Given the description of an element on the screen output the (x, y) to click on. 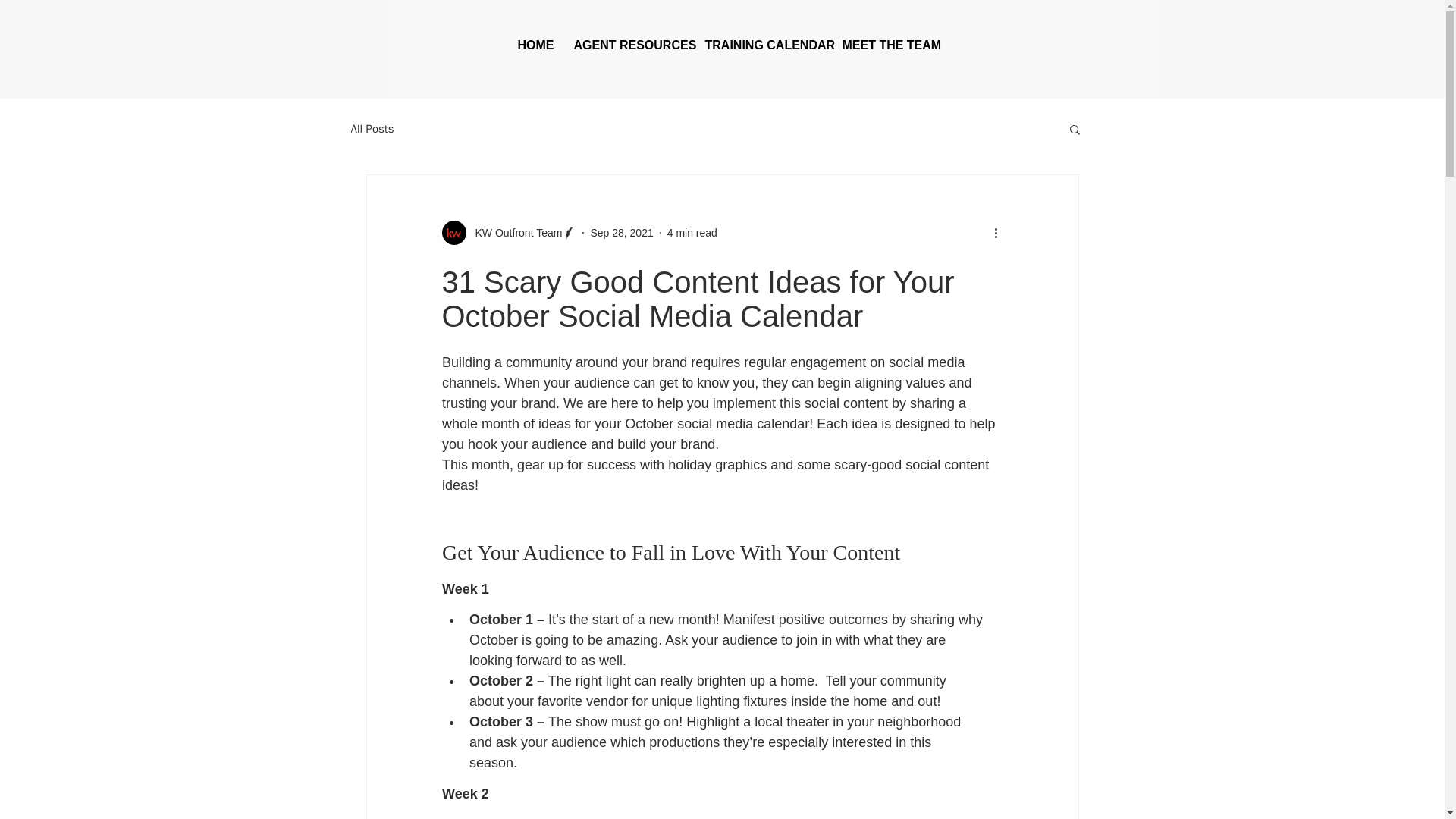
4 min read (691, 232)
Sep 28, 2021 (620, 232)
TRAINING CALENDAR (761, 45)
All Posts (371, 128)
HOME (534, 45)
KW Outfront Team (513, 232)
KW Outfront Team (508, 232)
MEET THE TEAM (886, 45)
AGENT RESOURCES (628, 45)
